Given the description of an element on the screen output the (x, y) to click on. 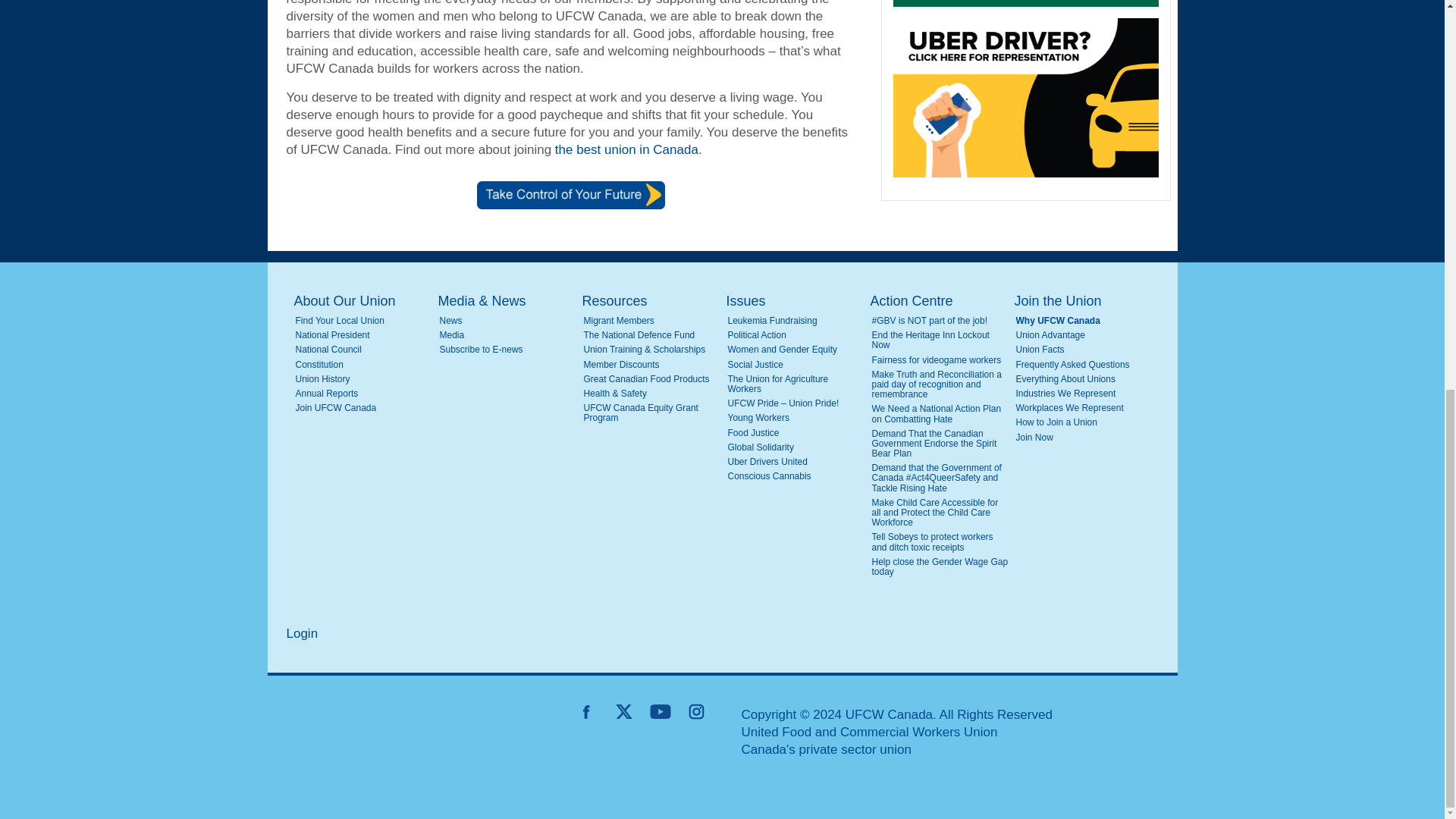
  Instagram (695, 711)
National President (363, 335)
  Youtube2 (660, 711)
Constitution (363, 365)
News (507, 320)
About Our Union (362, 301)
National Council (363, 349)
Join UFCW Canada (363, 408)
the best union in Canada (626, 149)
Union History (363, 379)
Find Your Local Union (363, 320)
  X (623, 711)
Annual Reports (363, 393)
  Facebook (587, 711)
